Given the description of an element on the screen output the (x, y) to click on. 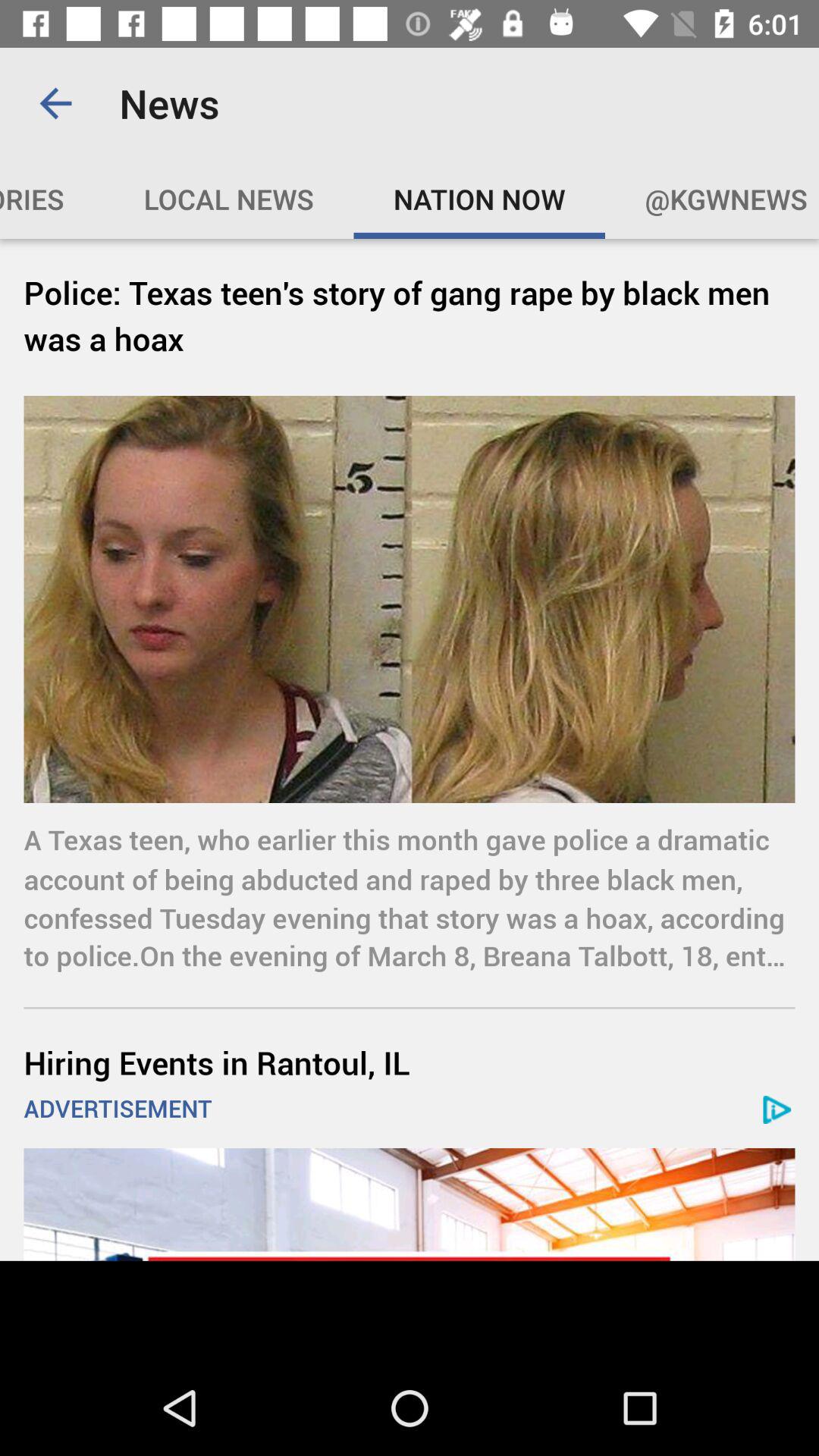
visit advertiser (409, 1204)
